Given the description of an element on the screen output the (x, y) to click on. 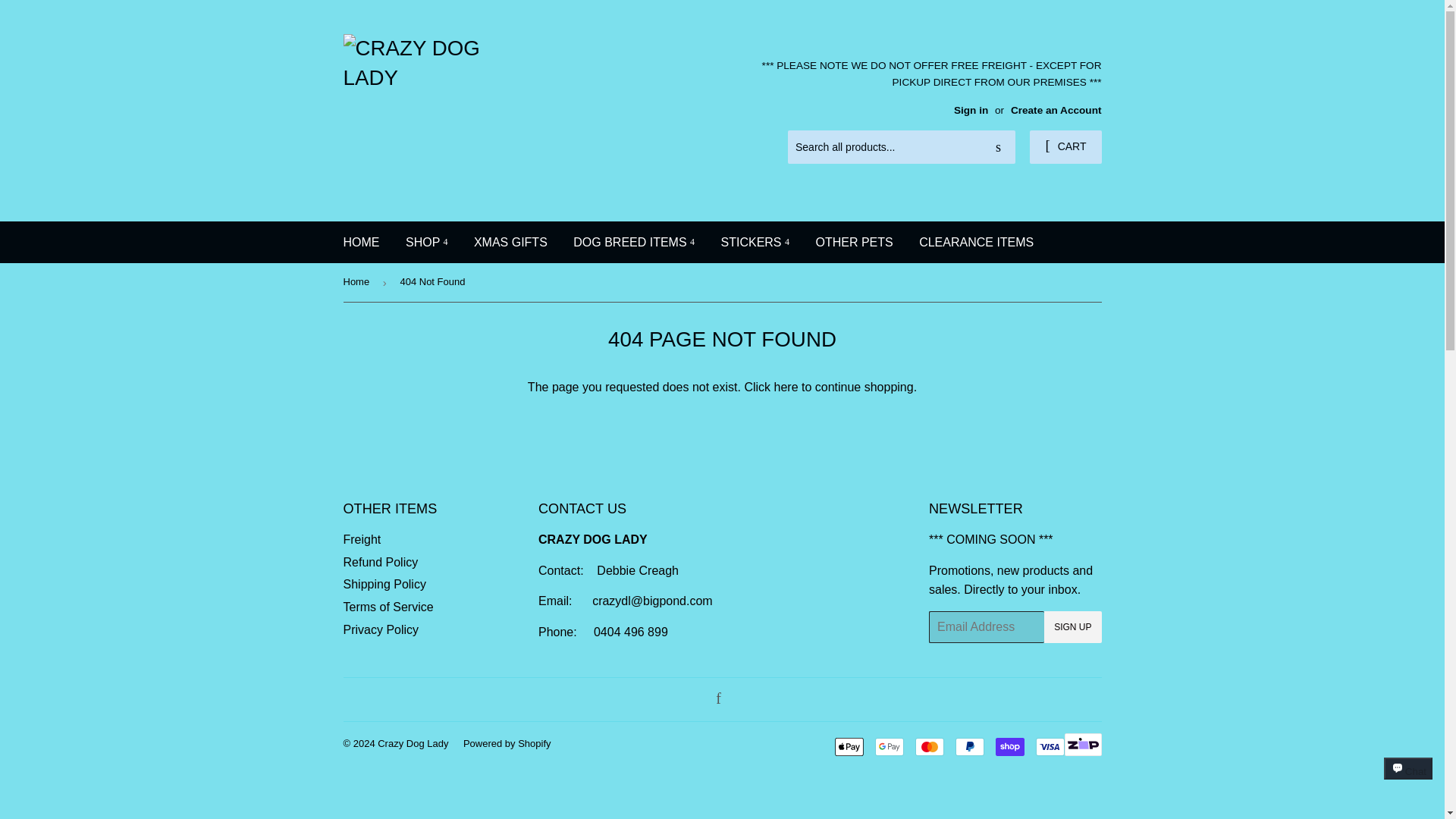
Apple Pay (848, 746)
Sign in (970, 110)
PayPal (969, 746)
Create an Account (1056, 110)
Visa (1049, 746)
Mastercard (929, 746)
Shop Pay (1010, 746)
Shopify online store chat (1408, 781)
Search (997, 147)
Google Pay (889, 746)
CART (1064, 146)
